Given the description of an element on the screen output the (x, y) to click on. 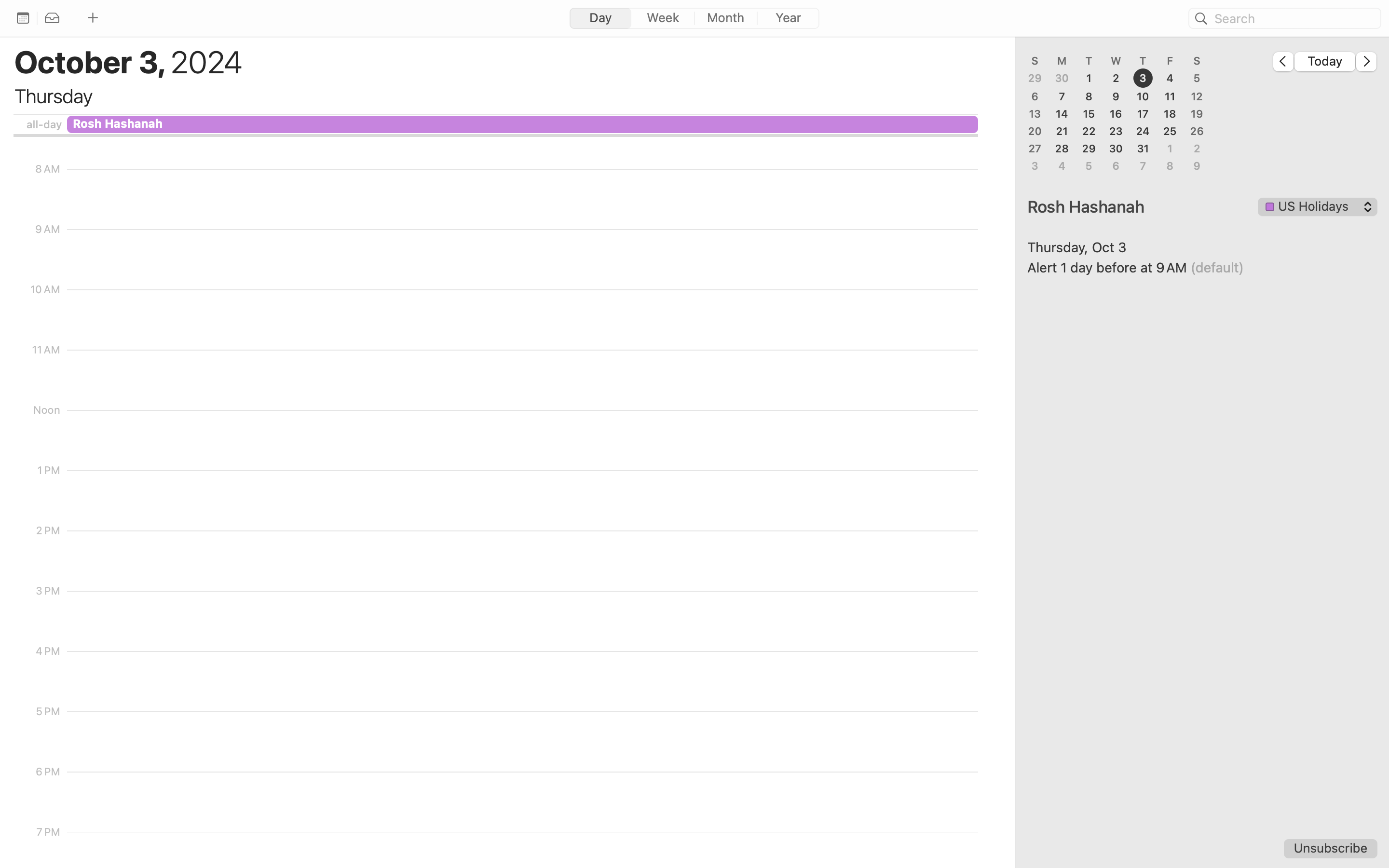
29 Element type: AXStaticText (1034, 78)
7 Element type: AXStaticText (1061, 96)
Rosh Hashanah Element type: AXStaticText (1140, 206)
18 Element type: AXStaticText (1169, 113)
